Given the description of an element on the screen output the (x, y) to click on. 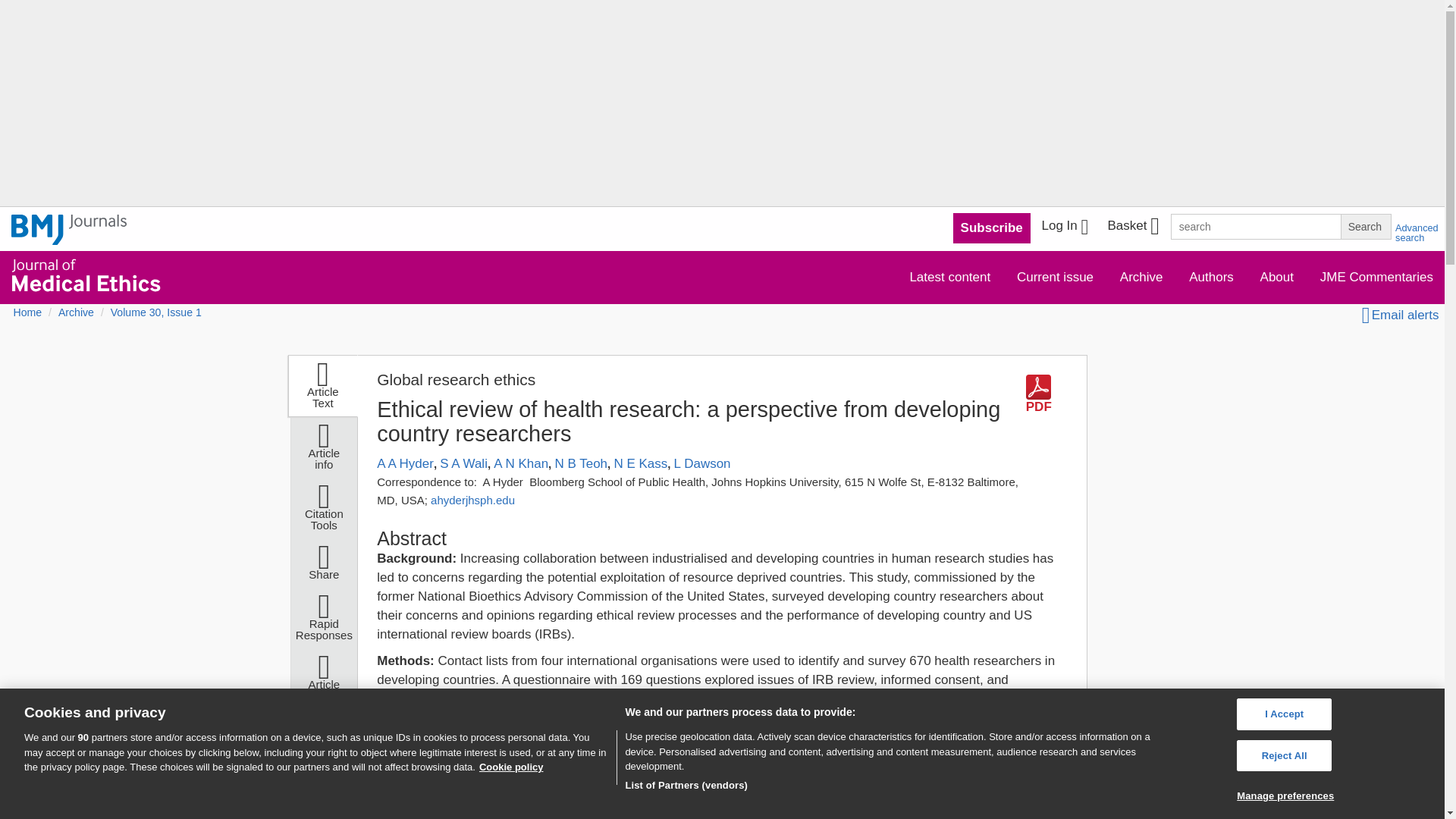
Basket (1132, 228)
About (1276, 276)
Advanced search (1416, 232)
Archive (1141, 276)
Search (1364, 226)
Latest content (949, 276)
Authors (1210, 276)
Log In (1064, 228)
BMJ Journals (68, 229)
BMJ Journals (68, 237)
